Given the description of an element on the screen output the (x, y) to click on. 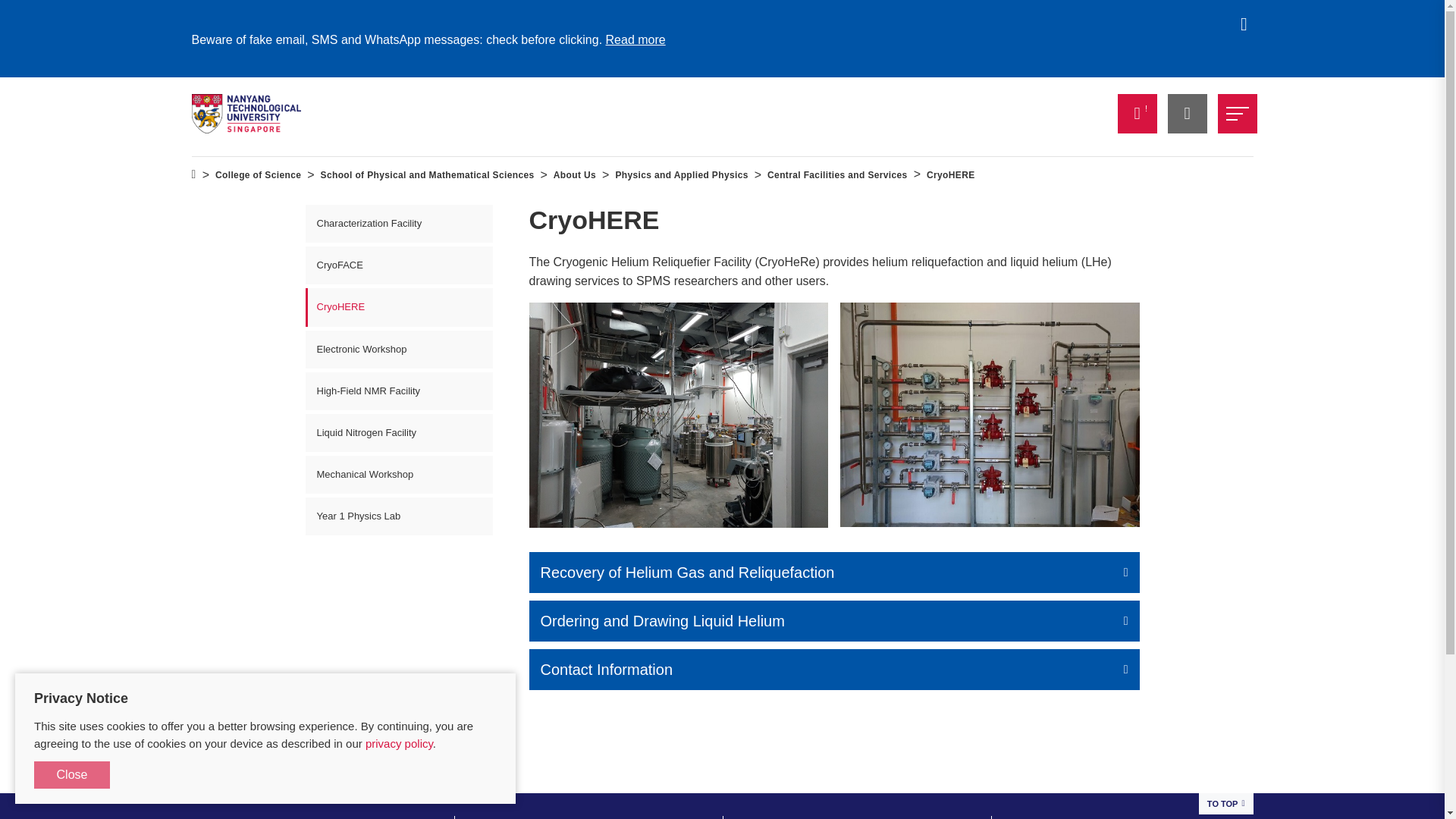
CryoHERE (678, 414)
School of Physical and Mathematical Sciences (427, 175)
privacy policy (398, 743)
Central Facilities and Services (837, 175)
Read more (635, 39)
About Us (574, 175)
Close (71, 774)
pipelineflowmeter (990, 414)
Physics and Applied Physics (681, 175)
College of Science (258, 175)
